Given the description of an element on the screen output the (x, y) to click on. 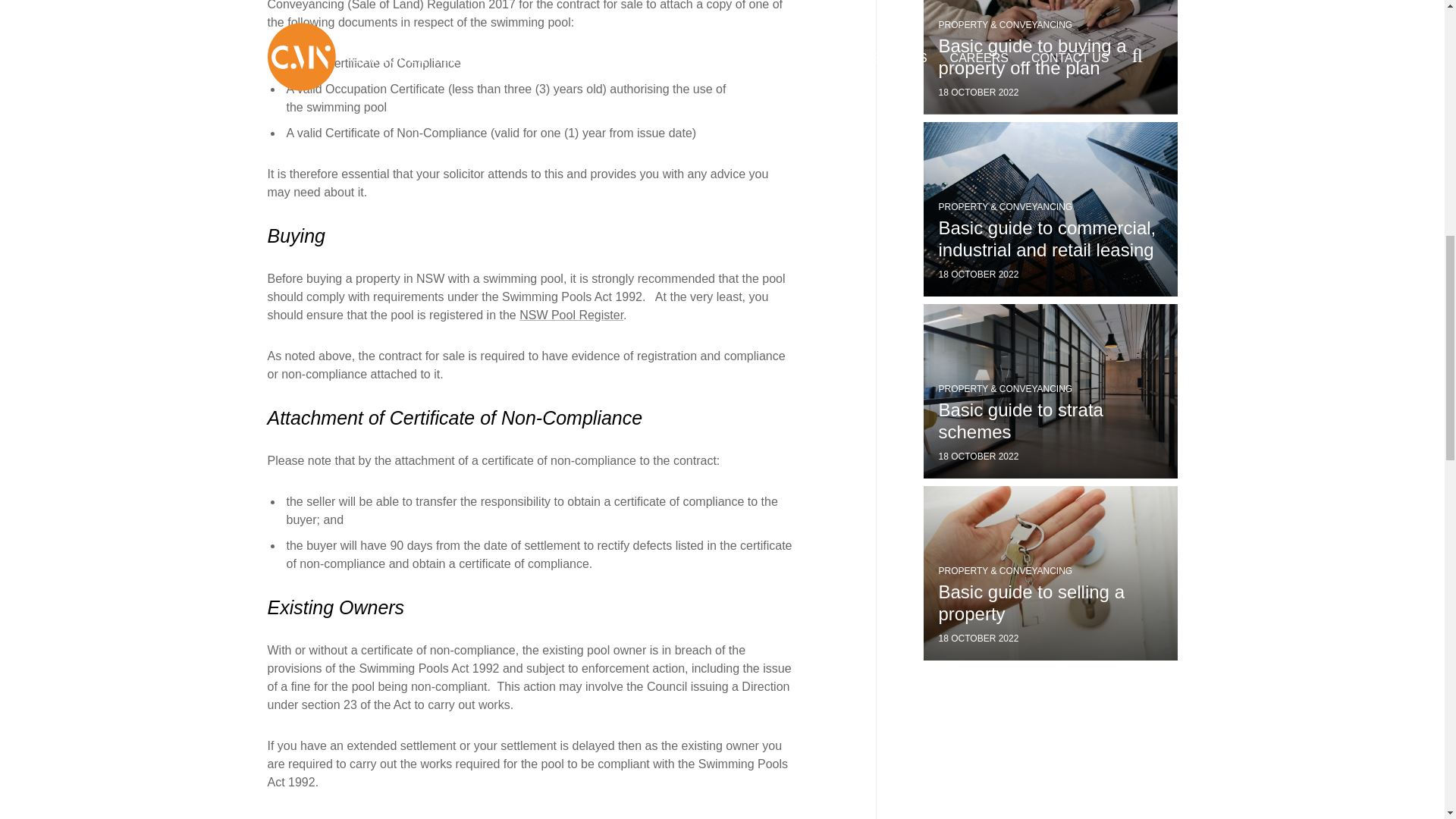
NSW Pool Register (571, 314)
